Given the description of an element on the screen output the (x, y) to click on. 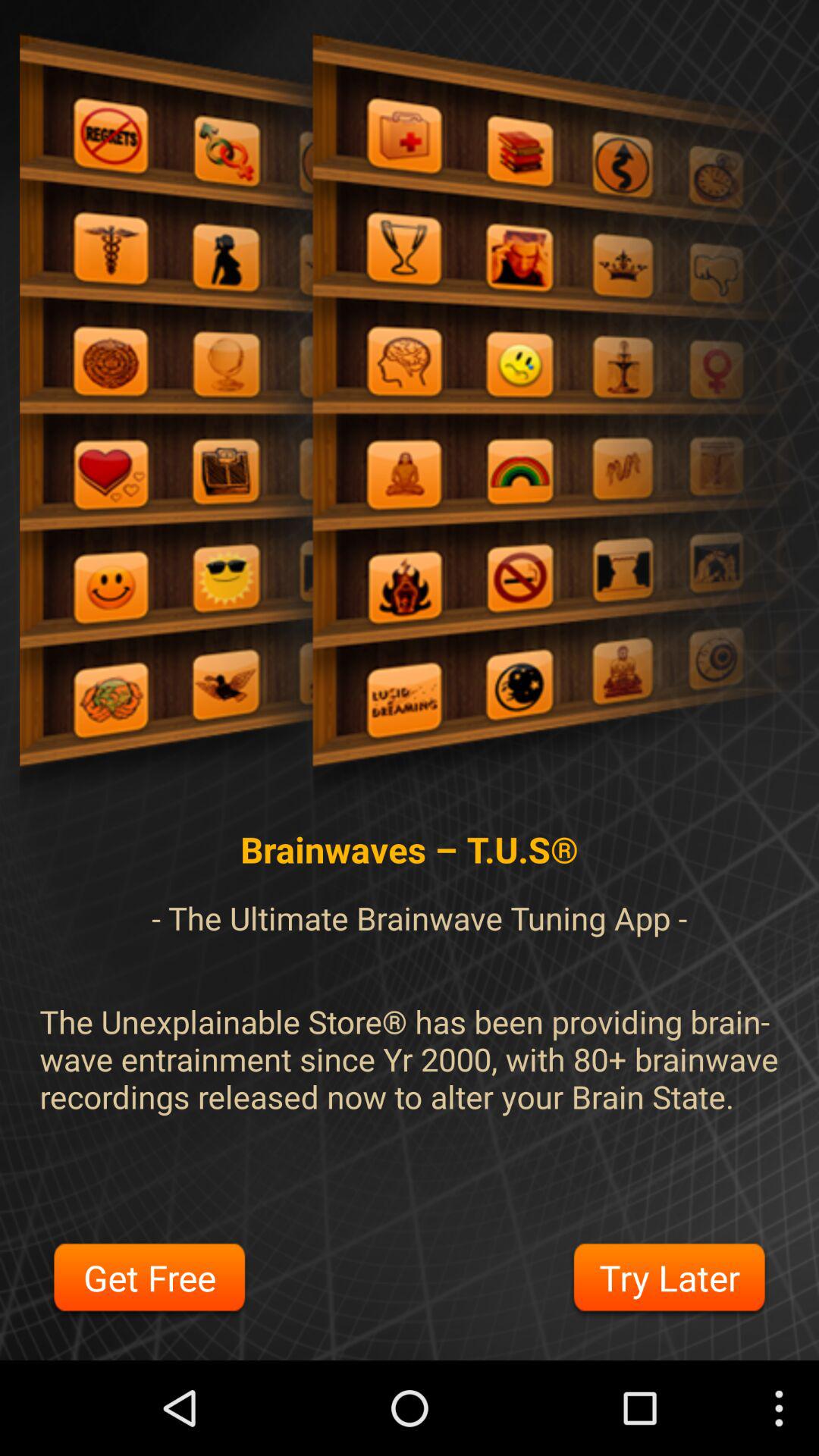
swipe until try later button (668, 1280)
